Given the description of an element on the screen output the (x, y) to click on. 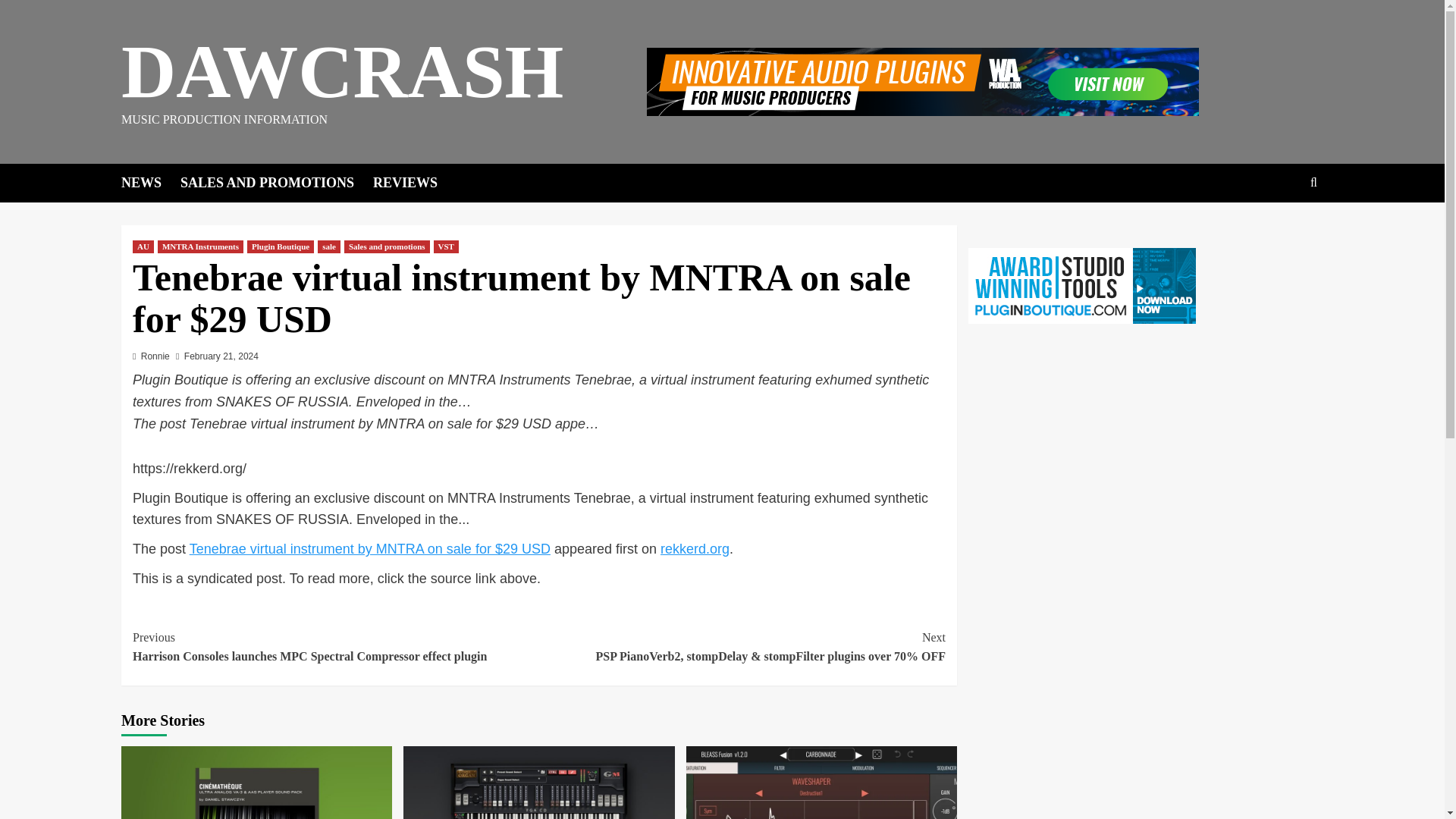
DAWCRASH (341, 71)
Gospel Musicians releases Gospel Organ virtual instrument (538, 782)
Audio Plugins from Pluginboutique.com (1081, 285)
sale (328, 246)
Ronnie (155, 356)
MNTRA Instruments (200, 246)
AU (143, 246)
February 21, 2024 (221, 356)
Sales and promotions (386, 246)
